Given the description of an element on the screen output the (x, y) to click on. 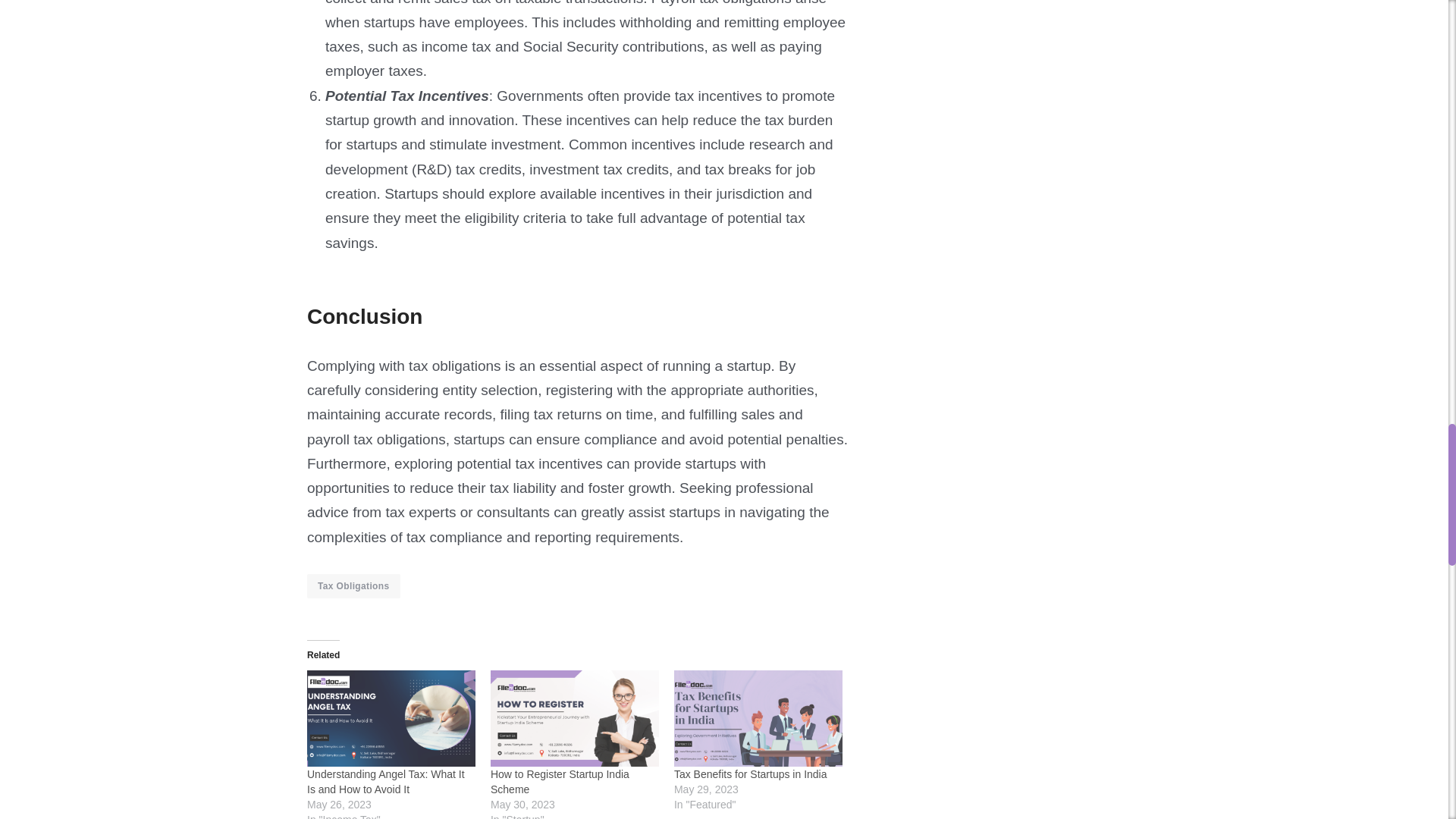
Understanding Angel Tax: What It Is and How to Avoid It (385, 781)
How to Register Startup India Scheme (559, 781)
Understanding Angel Tax: What It Is and How to Avoid It (391, 718)
How to Register Startup India Scheme (574, 718)
Tax Benefits for Startups in India (750, 774)
Tax Benefits for Startups in India (758, 718)
